Given the description of an element on the screen output the (x, y) to click on. 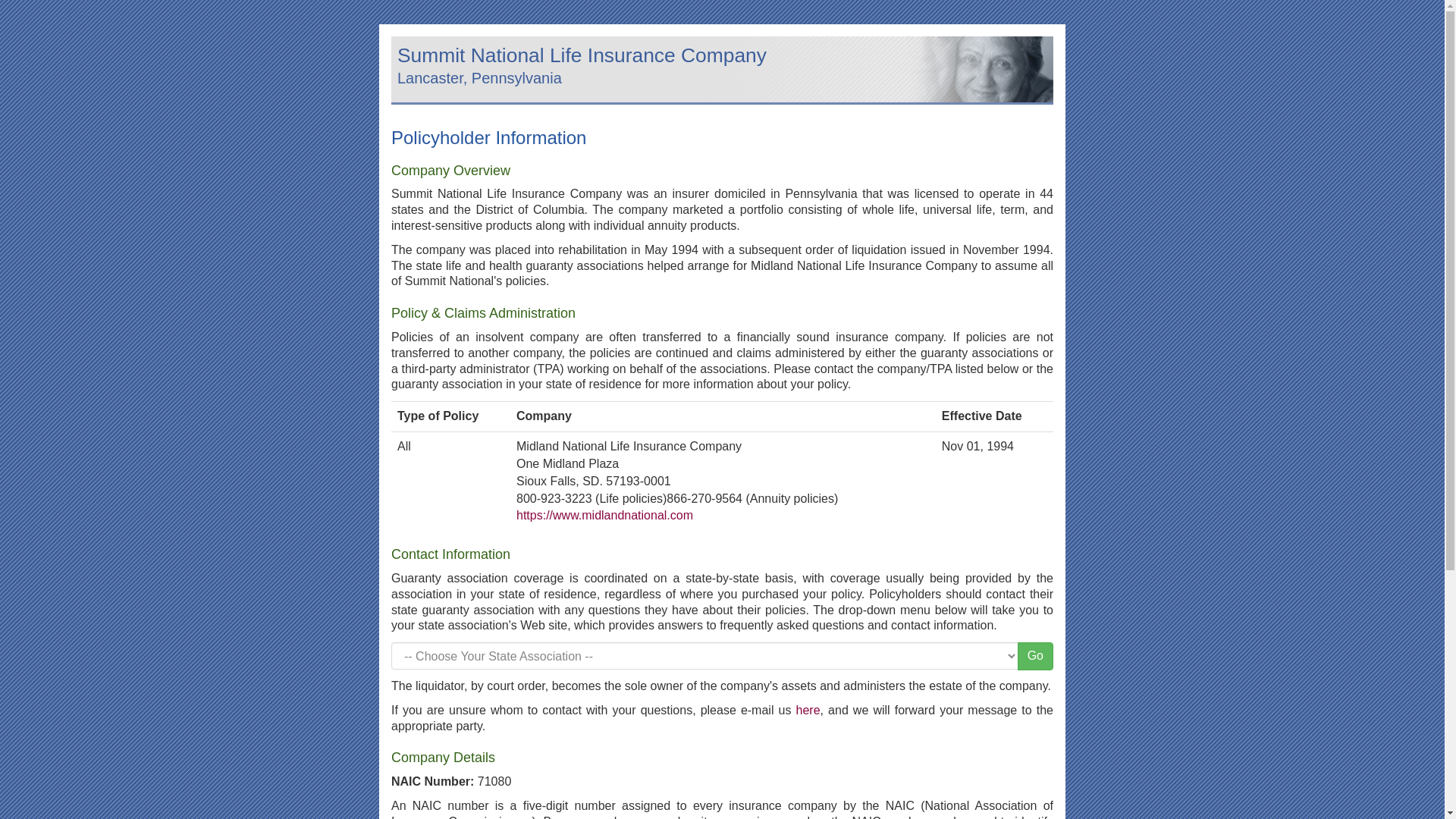
here (808, 709)
Go (1034, 656)
